Given the description of an element on the screen output the (x, y) to click on. 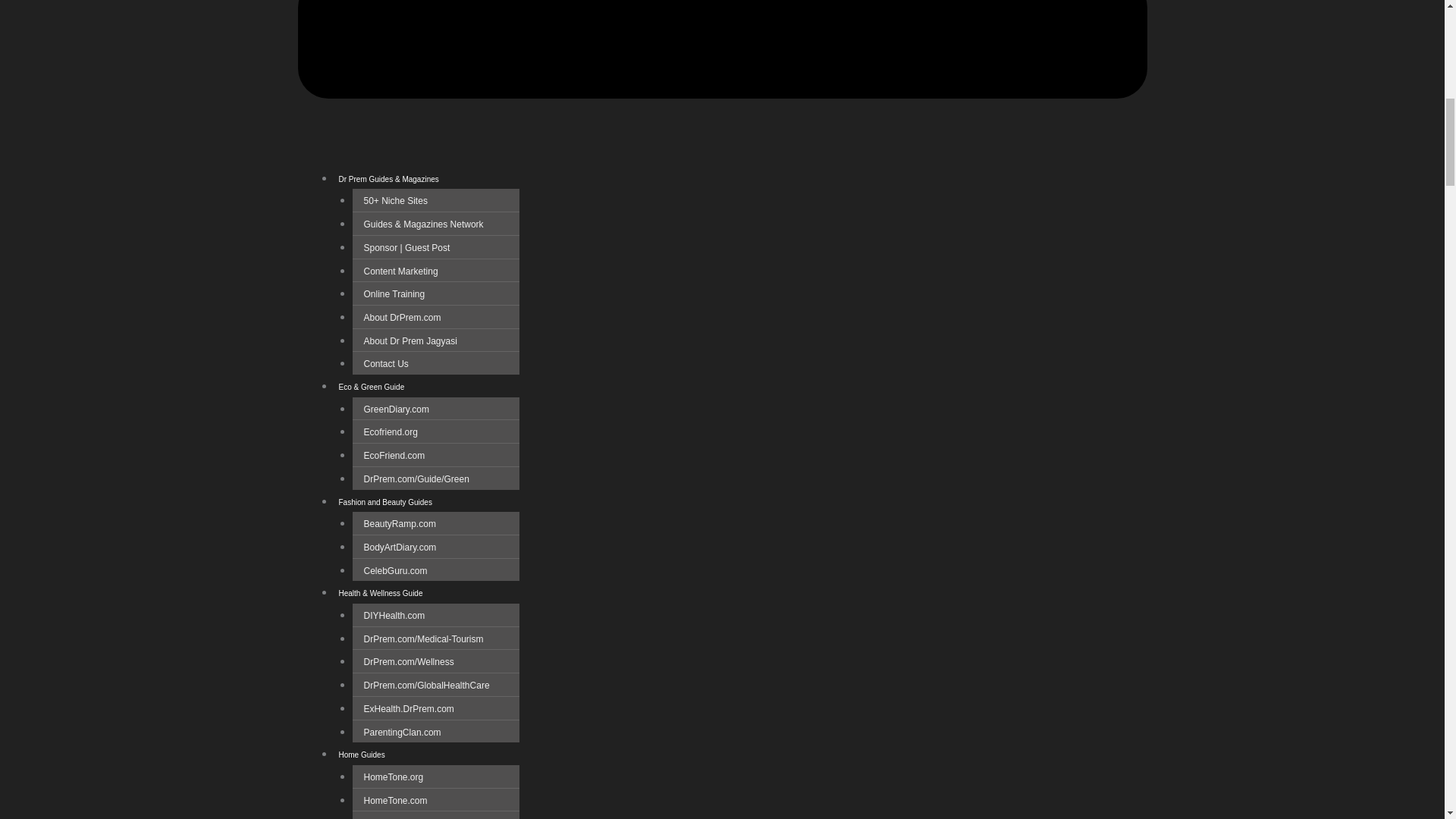
ParentingClan.com (401, 732)
Home Guides (360, 754)
EcoFriend.com (393, 455)
Online Training (393, 294)
GreenDiary.com (395, 409)
HomeTone.com (395, 800)
Contact Us (385, 363)
BeautyRamp.com (399, 523)
BodyArtDiary.com (399, 547)
About DrPrem.com (401, 317)
